Given the description of an element on the screen output the (x, y) to click on. 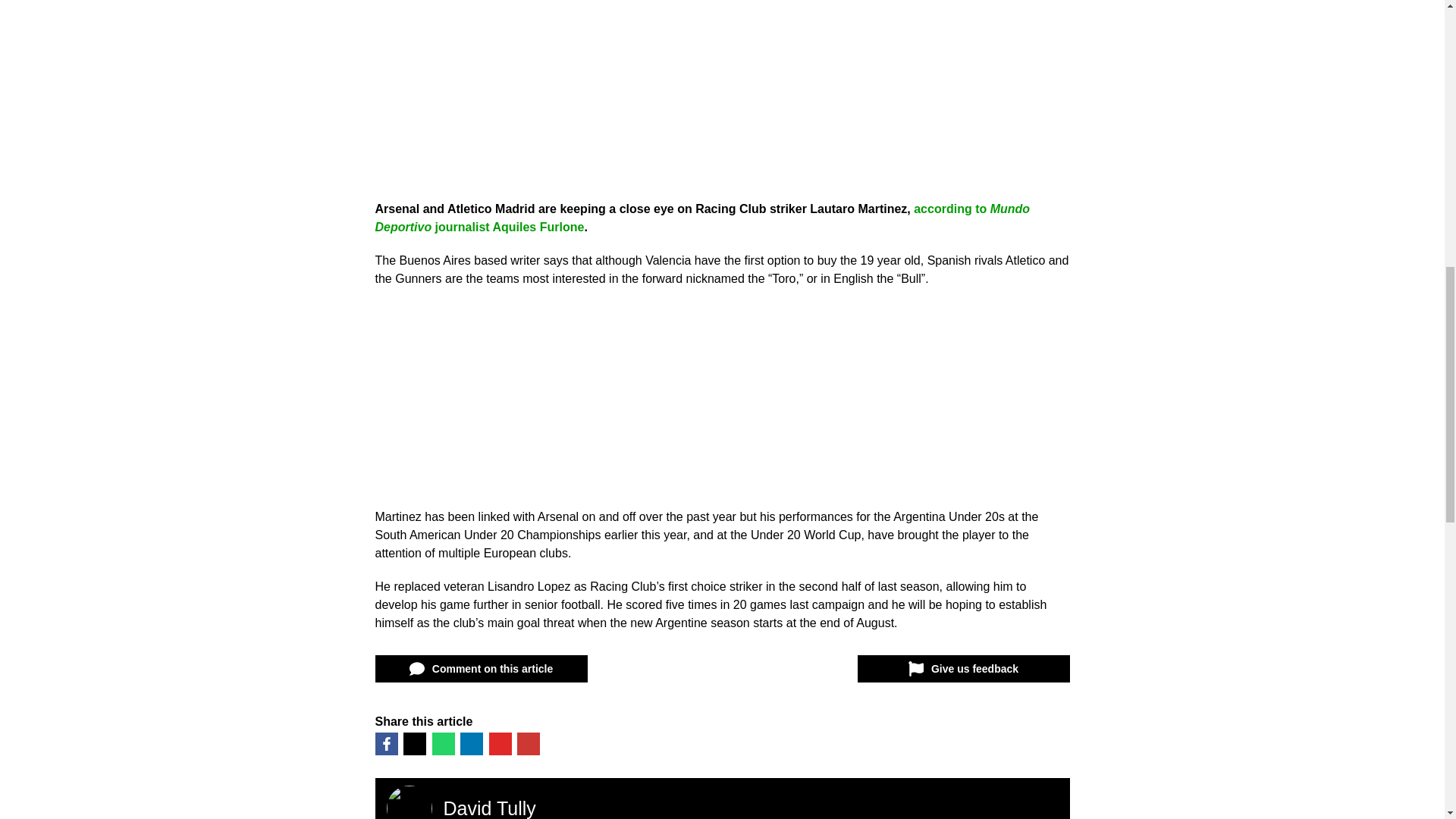
David Tully (488, 808)
share on Facebook (385, 743)
share on LinkedIn (471, 743)
share on Flipboard (499, 743)
according to Mundo Deportivo journalist Aquiles Furlone (701, 217)
share on Twitter (414, 743)
share on Email (528, 743)
share on WhatsApp (443, 743)
Comment on this article (480, 668)
Give us feedback (962, 668)
